Given the description of an element on the screen output the (x, y) to click on. 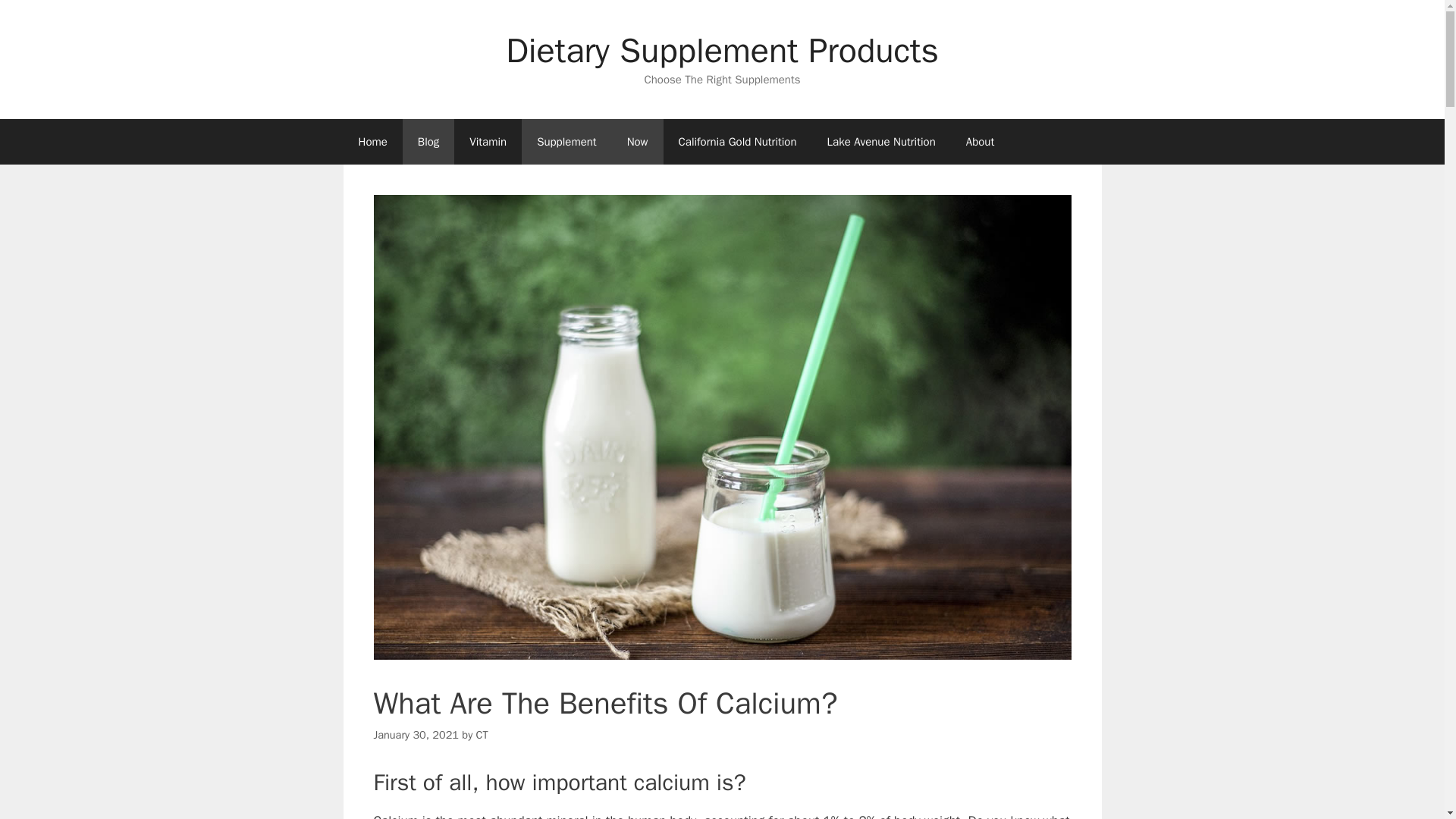
California Gold Nutrition (737, 140)
Blog (428, 140)
Supplement (566, 140)
Dietary Supplement Products (722, 50)
Home (371, 140)
Now (637, 140)
CT (481, 735)
Vitamin (487, 140)
Lake Avenue Nutrition (881, 140)
View all posts by CT (481, 735)
About (979, 140)
